Given the description of an element on the screen output the (x, y) to click on. 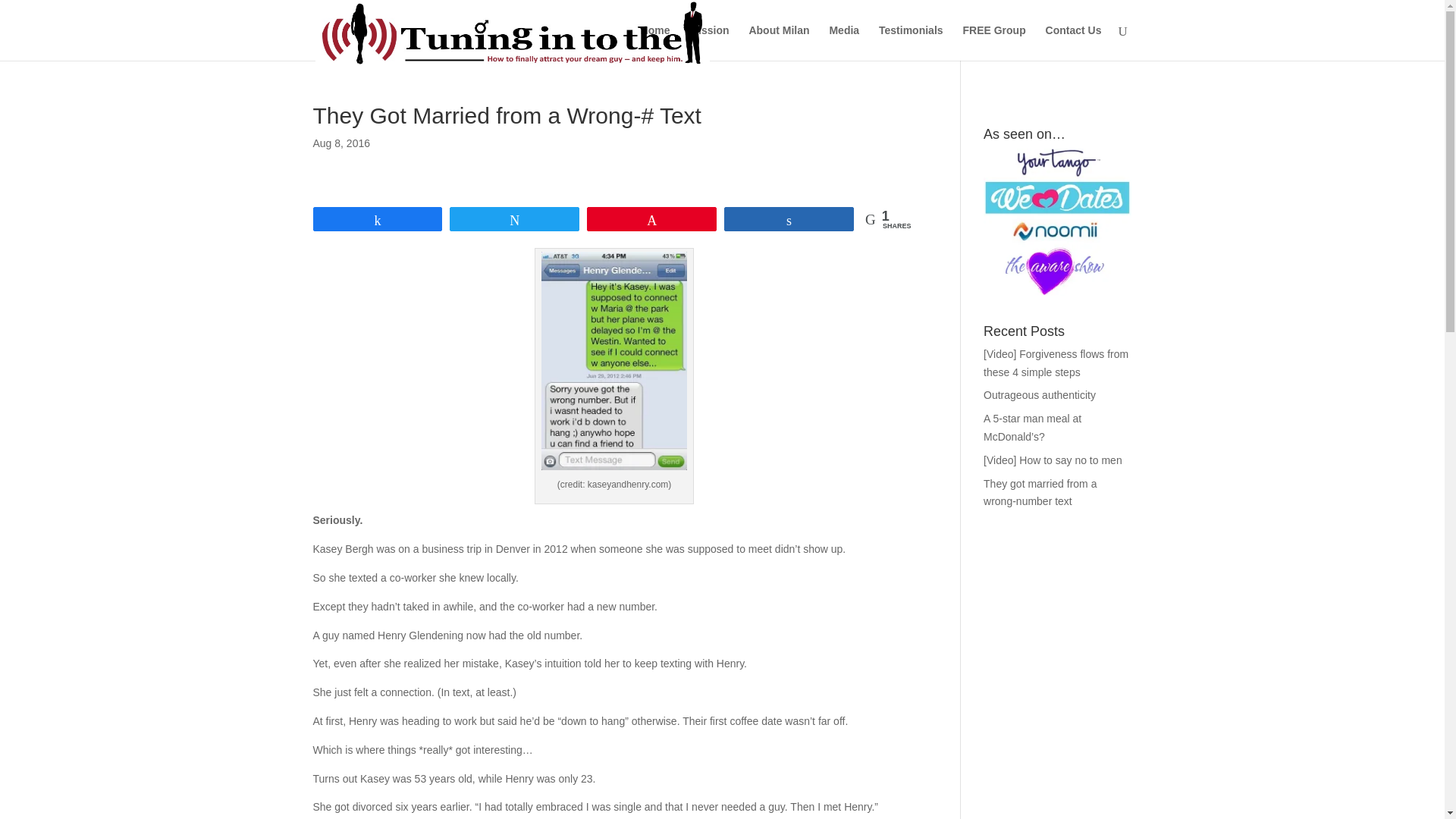
About Milan (778, 42)
Mission (708, 42)
Testimonials (911, 42)
They got married from a wrong-number text (1040, 492)
FREE Group (993, 42)
Outrageous authenticity (1040, 395)
Contact Us (1073, 42)
